Given the description of an element on the screen output the (x, y) to click on. 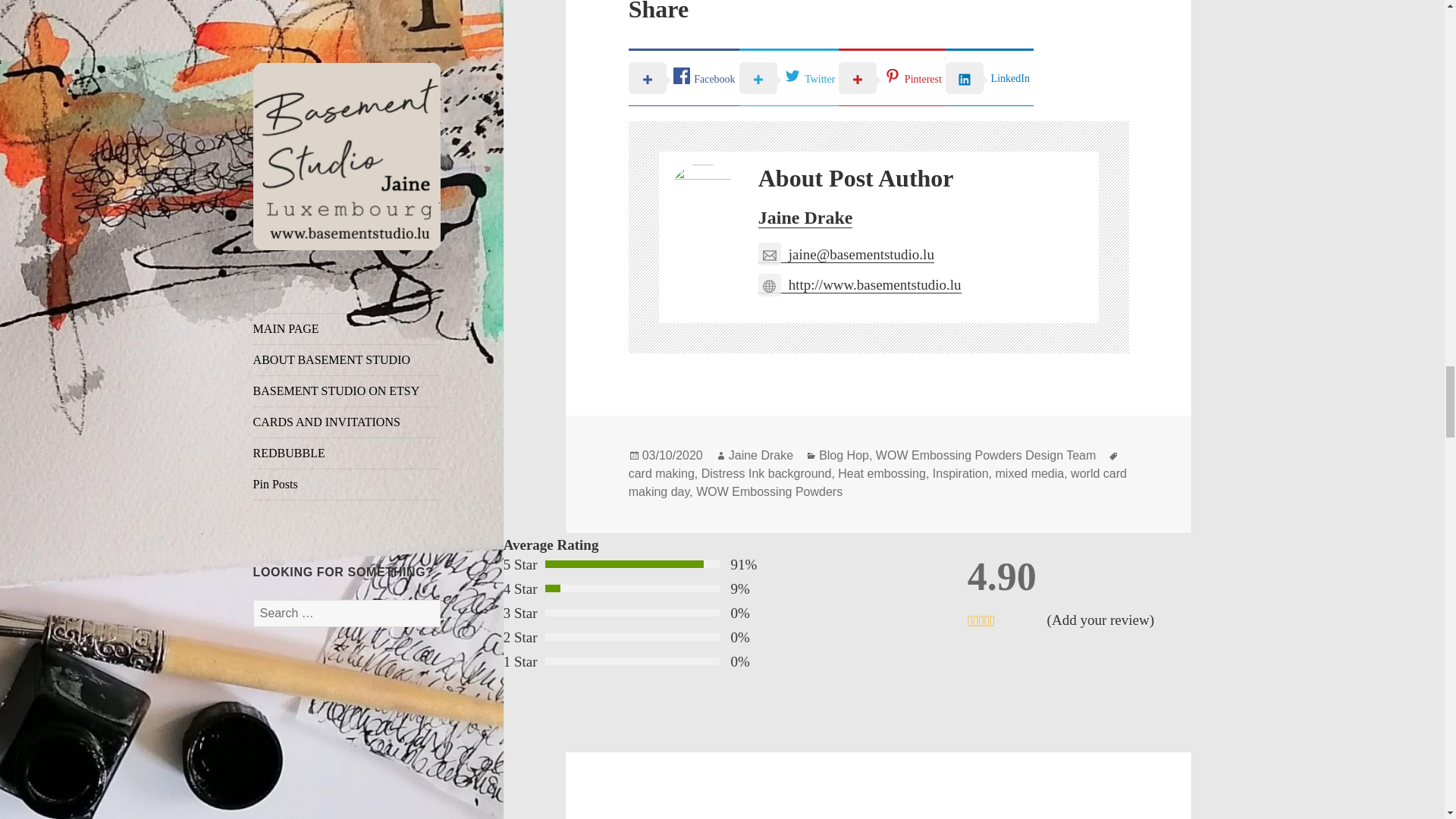
LinkedIn (988, 77)
Twitter (789, 77)
WOW Embossing Powders Design Team (986, 455)
Facebook (683, 77)
Blog Hop (843, 455)
Jaine Drake (761, 455)
Pinterest (891, 77)
Jaine Drake (805, 218)
